Given the description of an element on the screen output the (x, y) to click on. 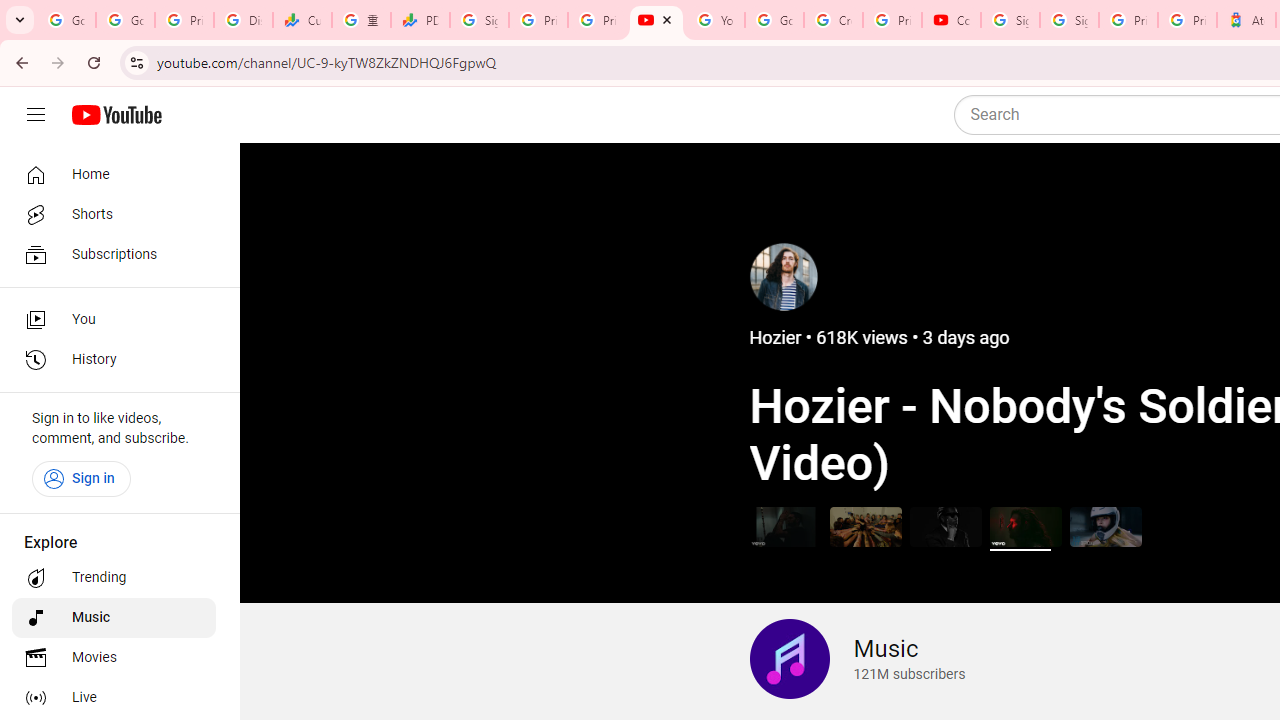
YouTube Home (116, 115)
Movies (113, 657)
Hozier - Nobody's Soldier (Official Video) (1025, 526)
PDD Holdings Inc - ADR (PDD) Price & News - Google Finance (420, 20)
A$AP Rocky - HIGHJACK (Official Video) (944, 526)
Create your Google Account (832, 20)
